Given the description of an element on the screen output the (x, y) to click on. 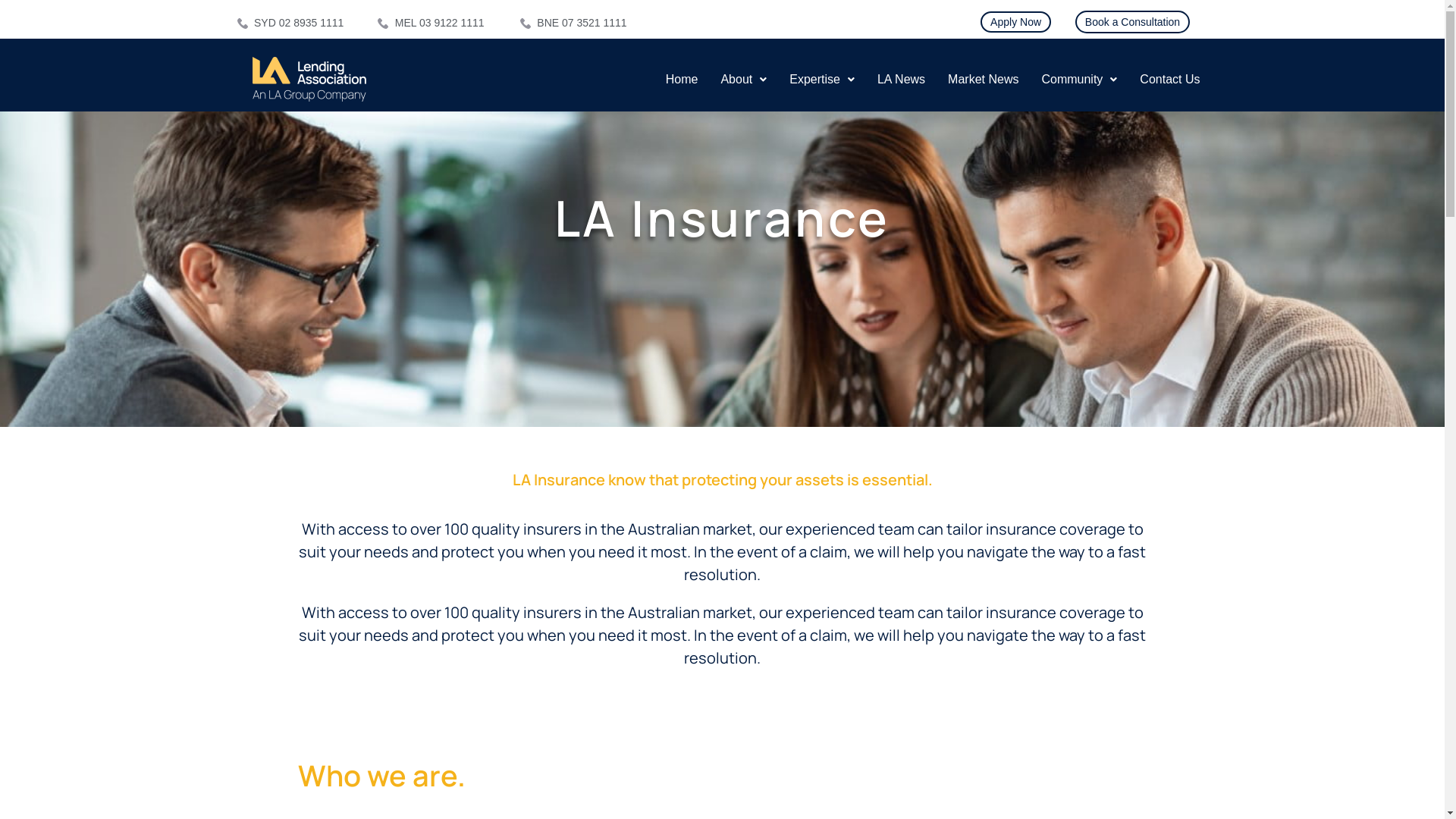
Home Element type: text (681, 79)
BNE 07 3521 1111 Element type: text (580, 23)
LA News Element type: text (901, 79)
Expertise Element type: text (822, 79)
Contact Us Element type: text (1169, 79)
Book a Consultation Element type: text (1132, 21)
About Element type: text (743, 79)
MEL 03 9122 1111 Element type: text (440, 23)
Market News Element type: text (982, 79)
Community Element type: text (1078, 79)
SYD 02 8935 1111 Element type: text (299, 23)
Apply Now Element type: text (1015, 21)
